Given the description of an element on the screen output the (x, y) to click on. 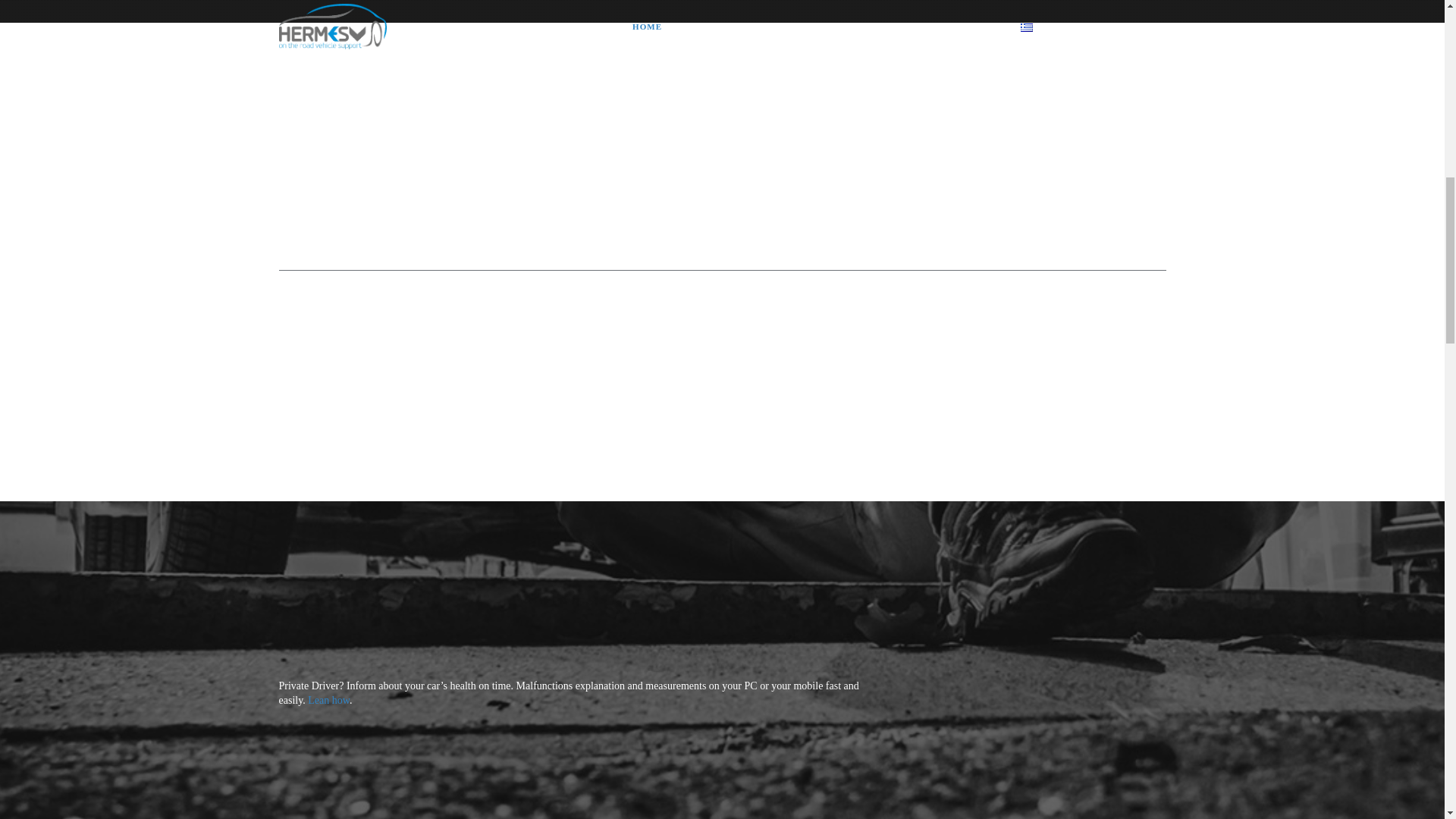
Lean how (328, 699)
